Given the description of an element on the screen output the (x, y) to click on. 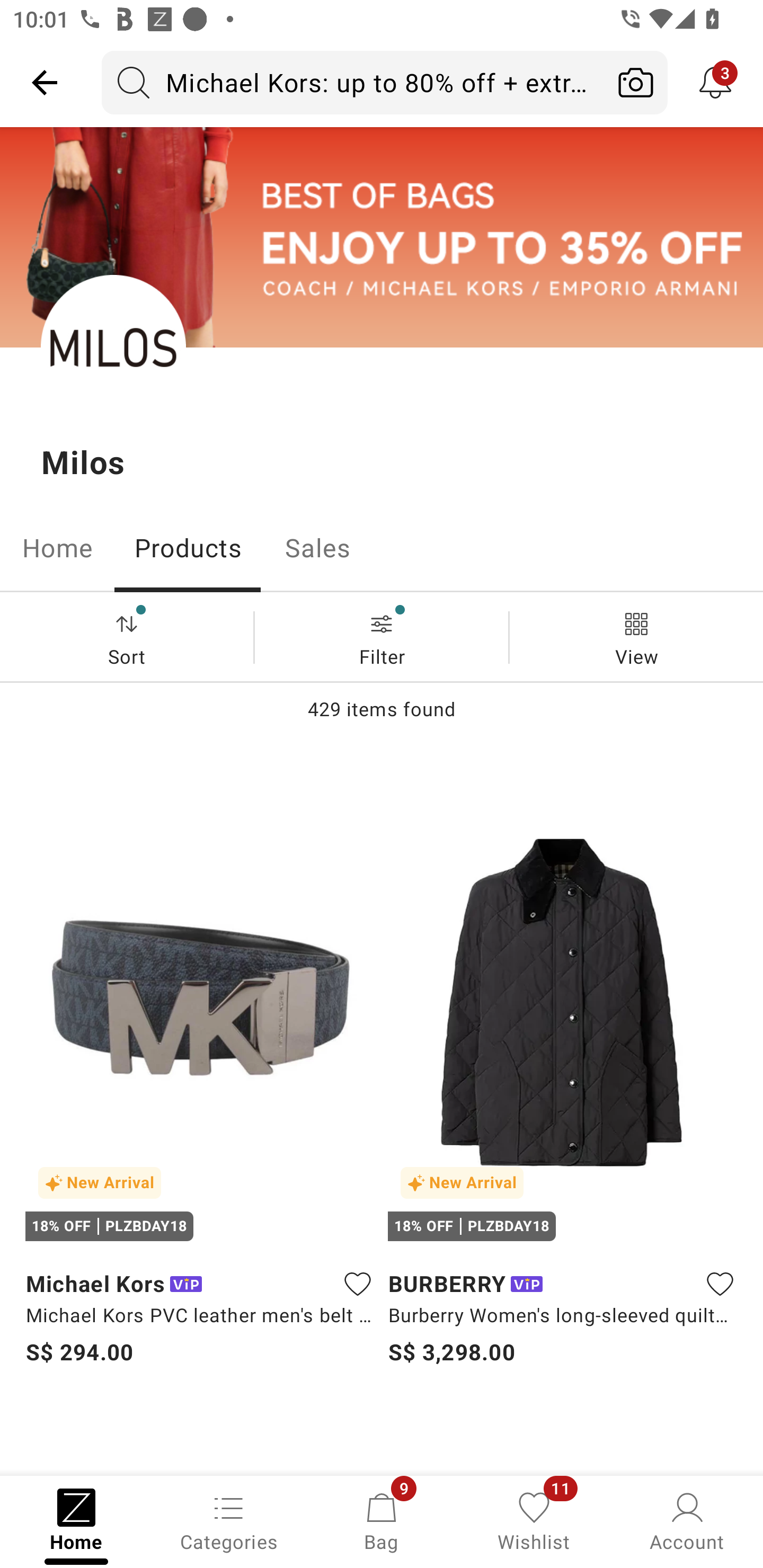
Navigate up (44, 82)
Michael Kors: up to 80% off + extra 40% off (352, 82)
Home (57, 547)
Sales (317, 547)
Categories (228, 1519)
Bag, 9 new notifications Bag (381, 1519)
Wishlist, 11 new notifications Wishlist (533, 1519)
Account (686, 1519)
